Given the description of an element on the screen output the (x, y) to click on. 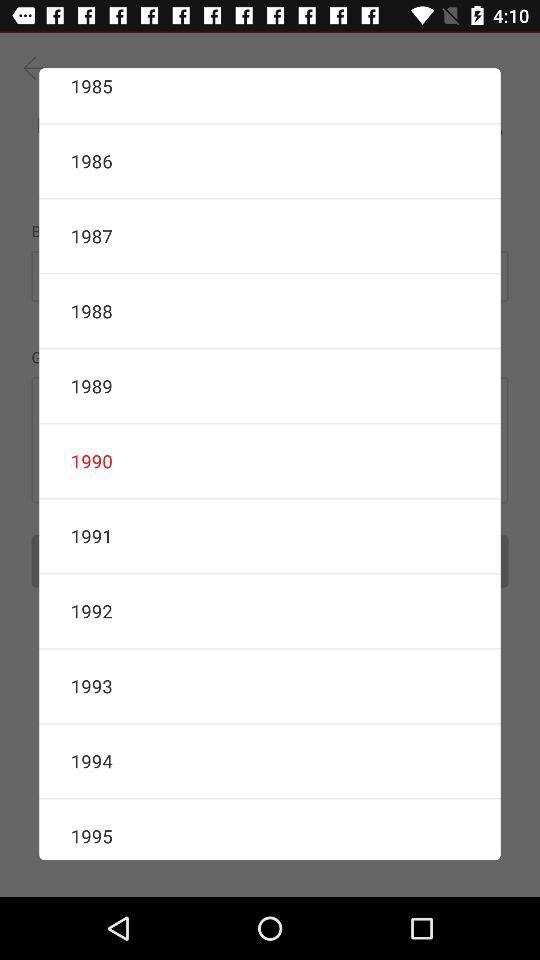
flip until 1992 icon (269, 611)
